Given the description of an element on the screen output the (x, y) to click on. 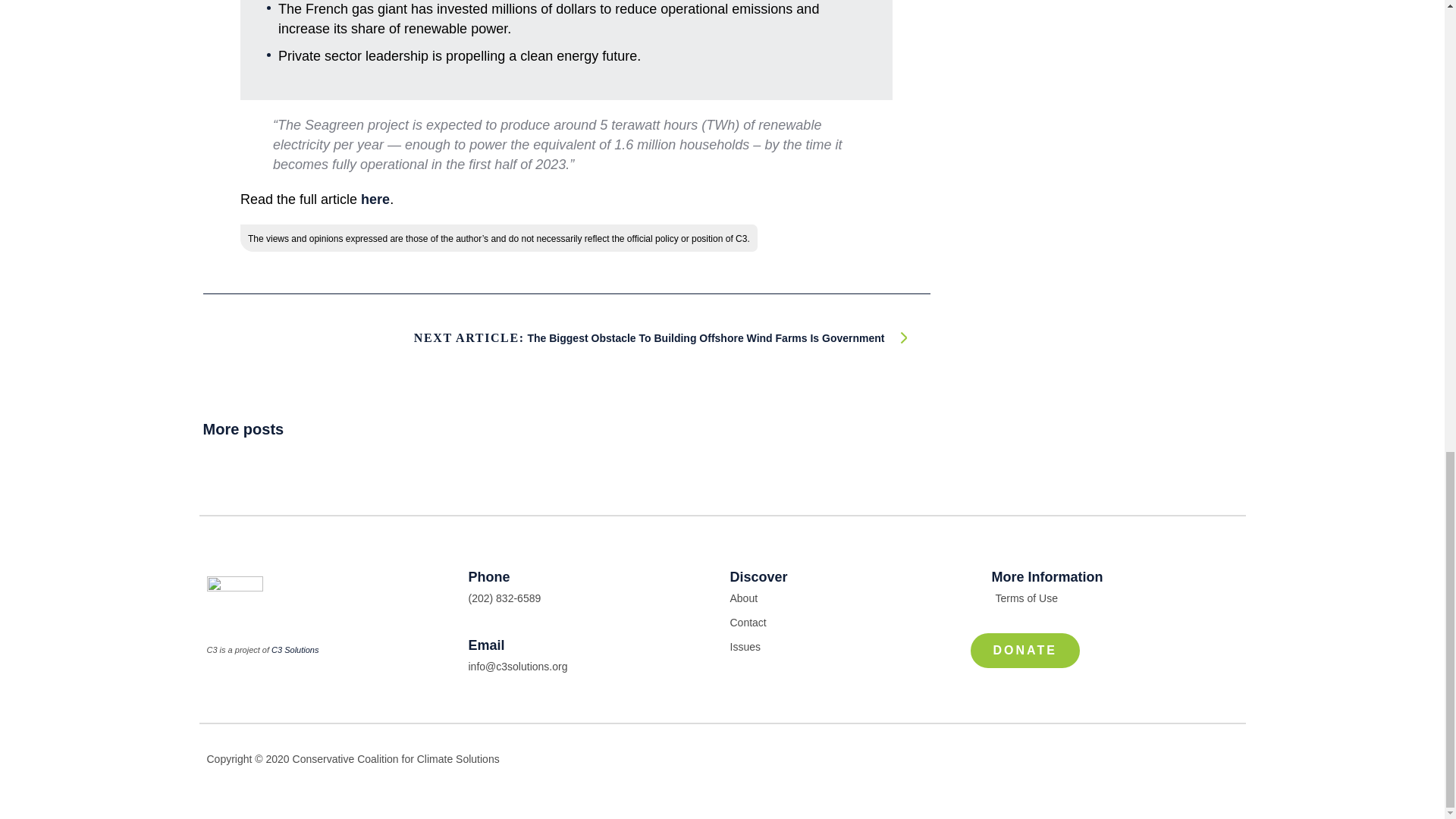
DONATE (1025, 650)
About (852, 597)
Issues (852, 646)
Contact (852, 622)
here (375, 199)
Terms of Use (1115, 597)
C3 Solutions (293, 649)
